Given the description of an element on the screen output the (x, y) to click on. 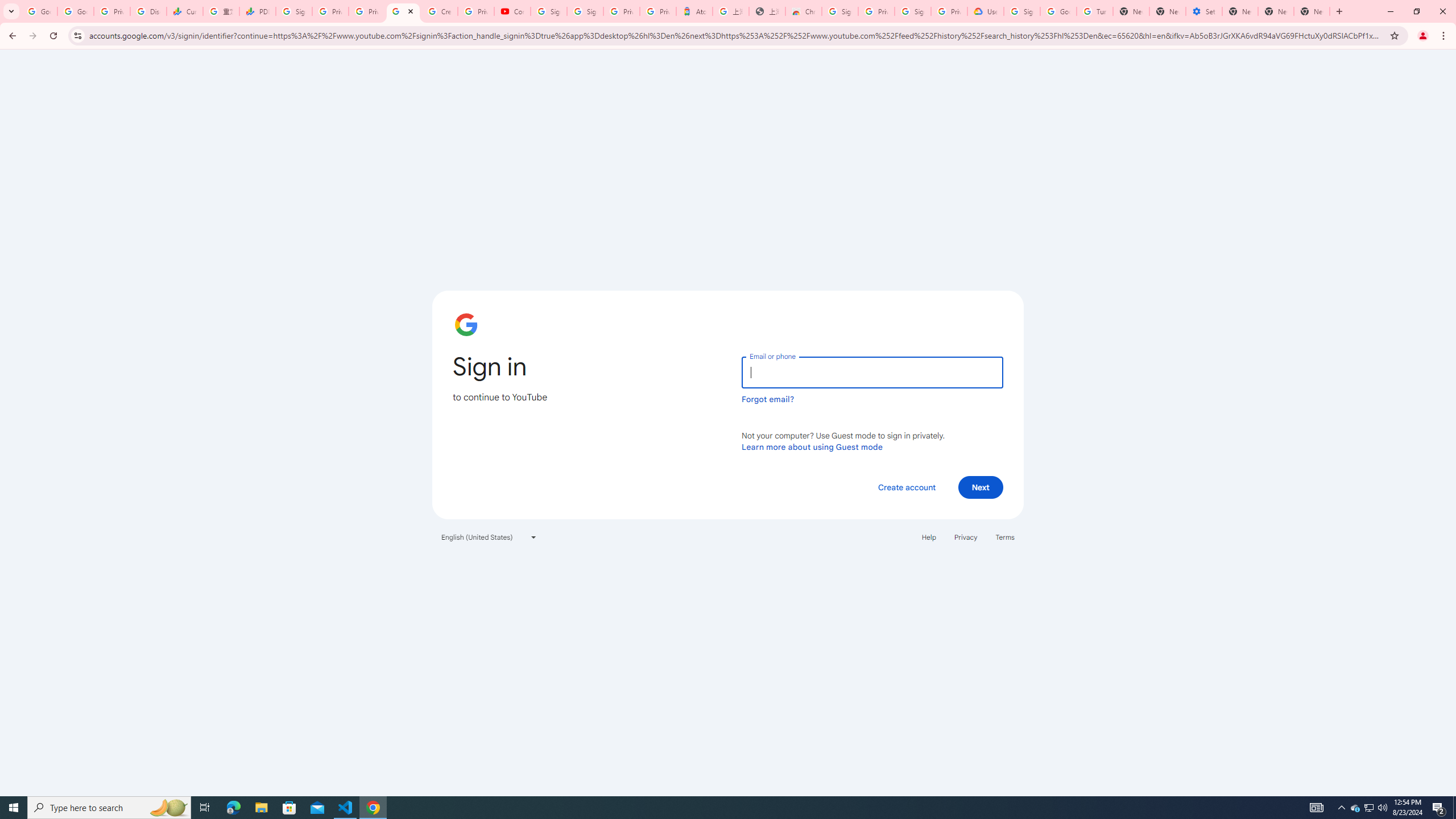
Currencies - Google Finance (184, 11)
Email or phone (871, 372)
Sign in - Google Accounts (912, 11)
Sign in - Google Accounts (585, 11)
Sign in - Google Accounts (839, 11)
Sign in - Google Accounts (293, 11)
